Given the description of an element on the screen output the (x, y) to click on. 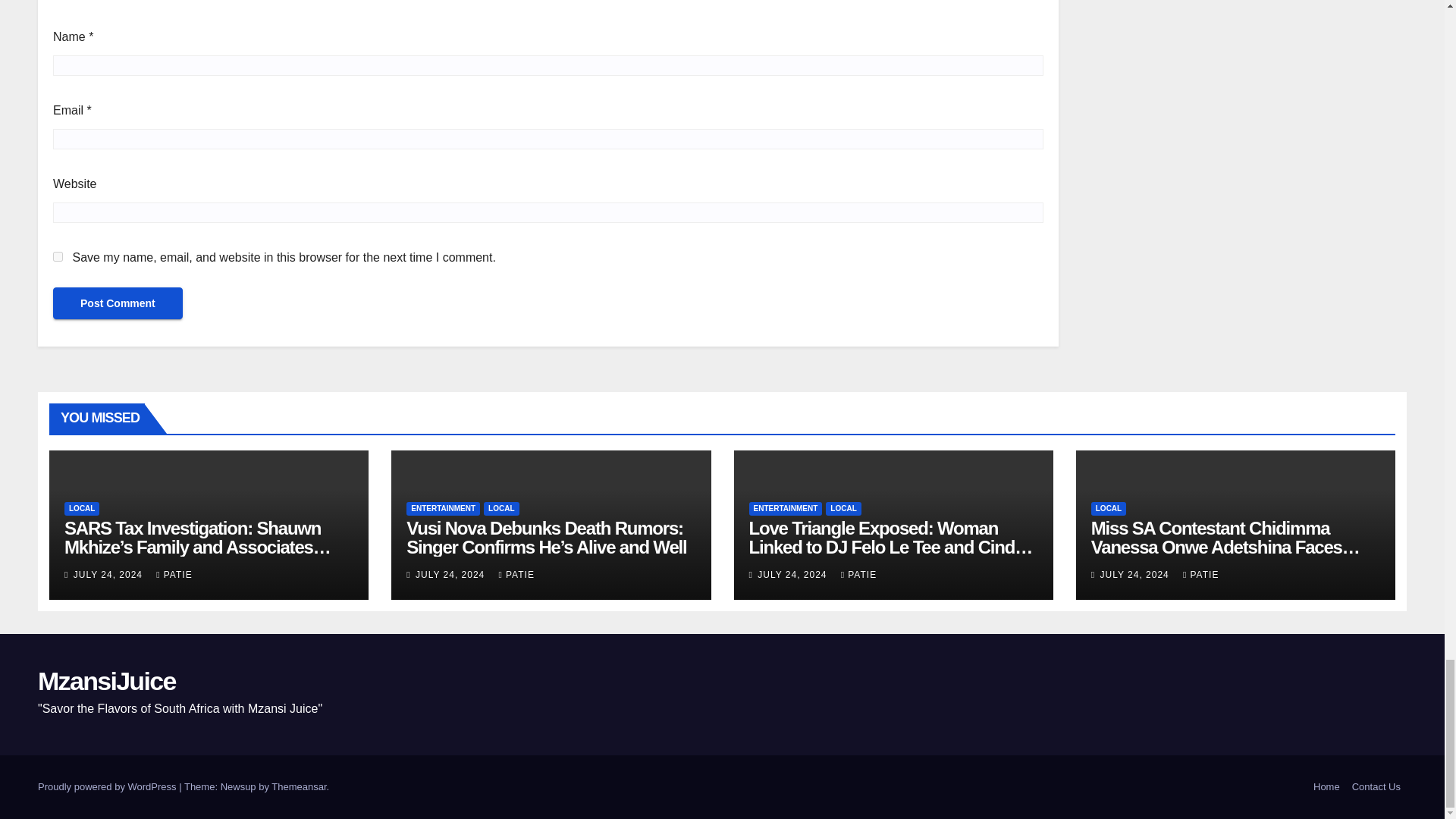
Home (1326, 786)
yes (57, 256)
Post Comment (117, 303)
